Given the description of an element on the screen output the (x, y) to click on. 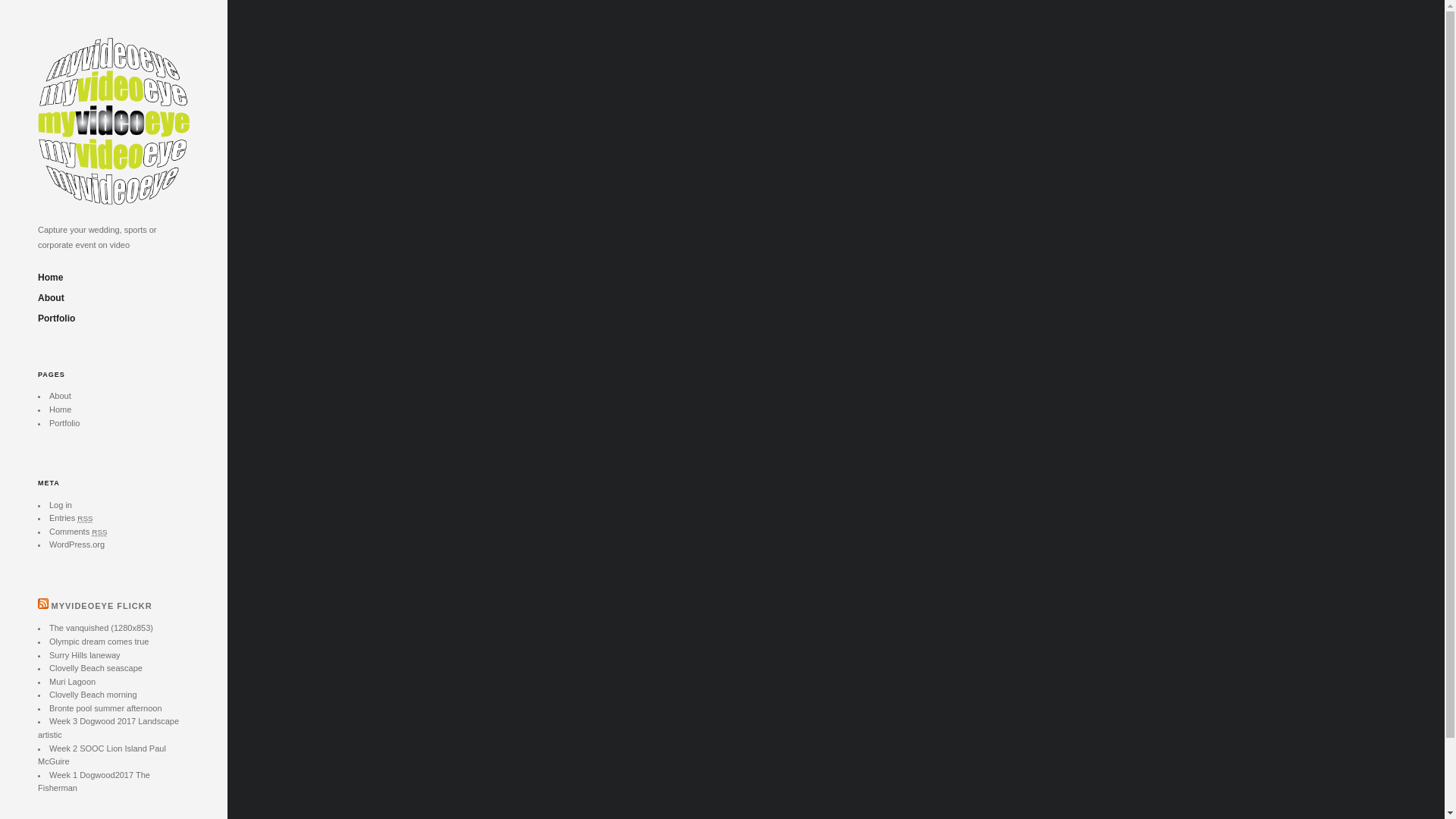
Week 2 SOOC Lion Island Paul McGuire Element type: text (101, 754)
About Element type: text (50, 297)
Portfolio Element type: text (56, 318)
Muri Lagoon Element type: text (72, 681)
Log in Element type: text (60, 504)
The vanquished (1280x853) Element type: text (101, 627)
Entries RSS Element type: text (71, 517)
Portfolio Element type: text (64, 422)
Week 3 Dogwood 2017 Landscape artistic Element type: text (107, 727)
WordPress.org Element type: text (76, 544)
Home Element type: text (60, 409)
Week 1 Dogwood2017 The Fisherman Element type: text (93, 781)
About Element type: text (60, 395)
Home Element type: text (49, 277)
MYVIDEOEYE FLICKR Element type: text (101, 605)
Surry Hills laneway Element type: text (84, 654)
Comments RSS Element type: text (78, 531)
Clovelly Beach seascape Element type: text (95, 667)
myvideoeye Element type: hover (113, 192)
Olympic dream comes true Element type: text (98, 641)
Clovelly Beach morning Element type: text (93, 694)
Bronte pool summer afternoon Element type: text (105, 707)
